Given the description of an element on the screen output the (x, y) to click on. 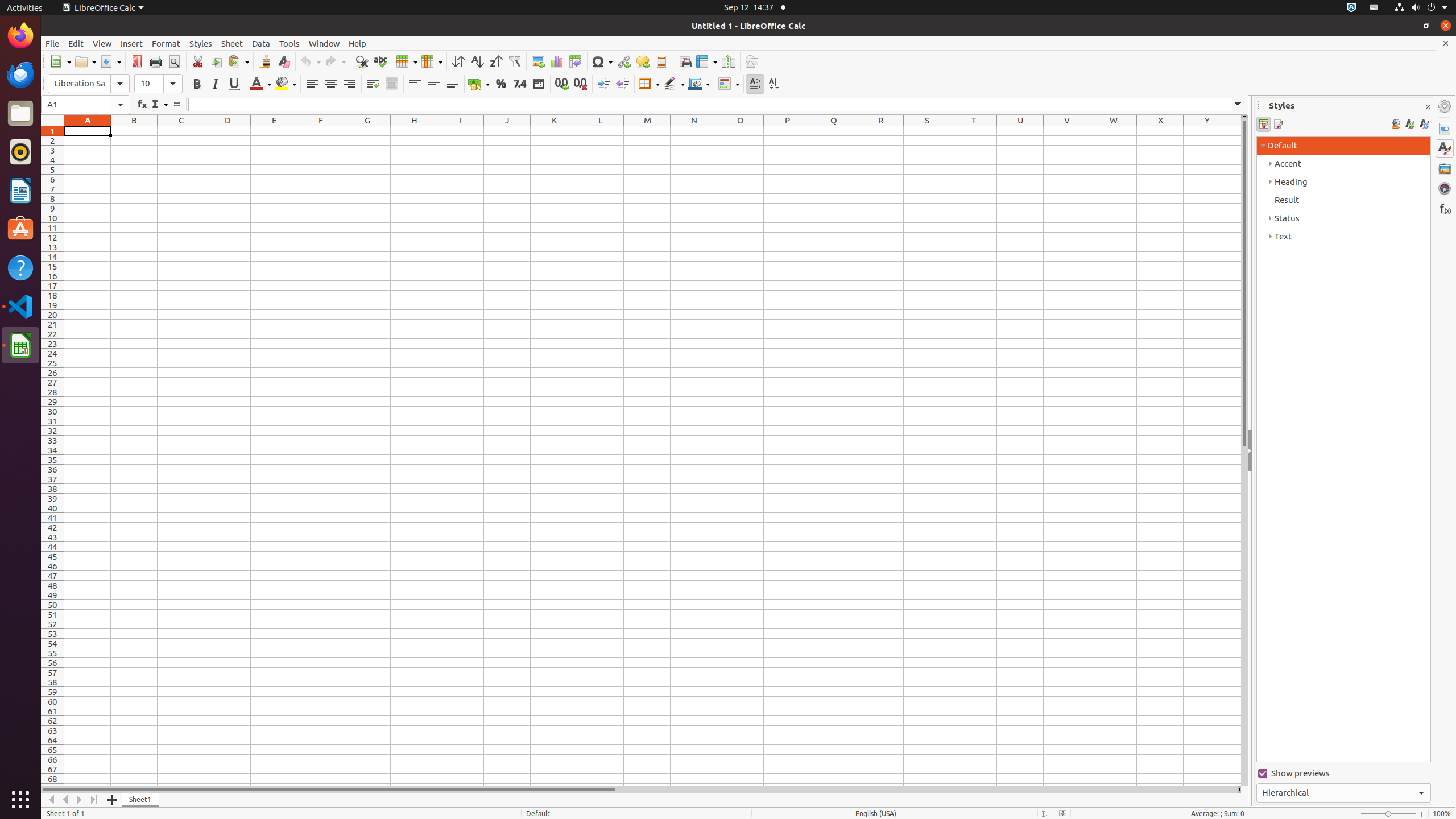
J1 Element type: table-cell (507, 130)
Show Applications Element type: toggle-button (20, 799)
Clone Element type: push-button (264, 61)
K1 Element type: table-cell (553, 130)
Conditional Element type: push-button (728, 83)
